Given the description of an element on the screen output the (x, y) to click on. 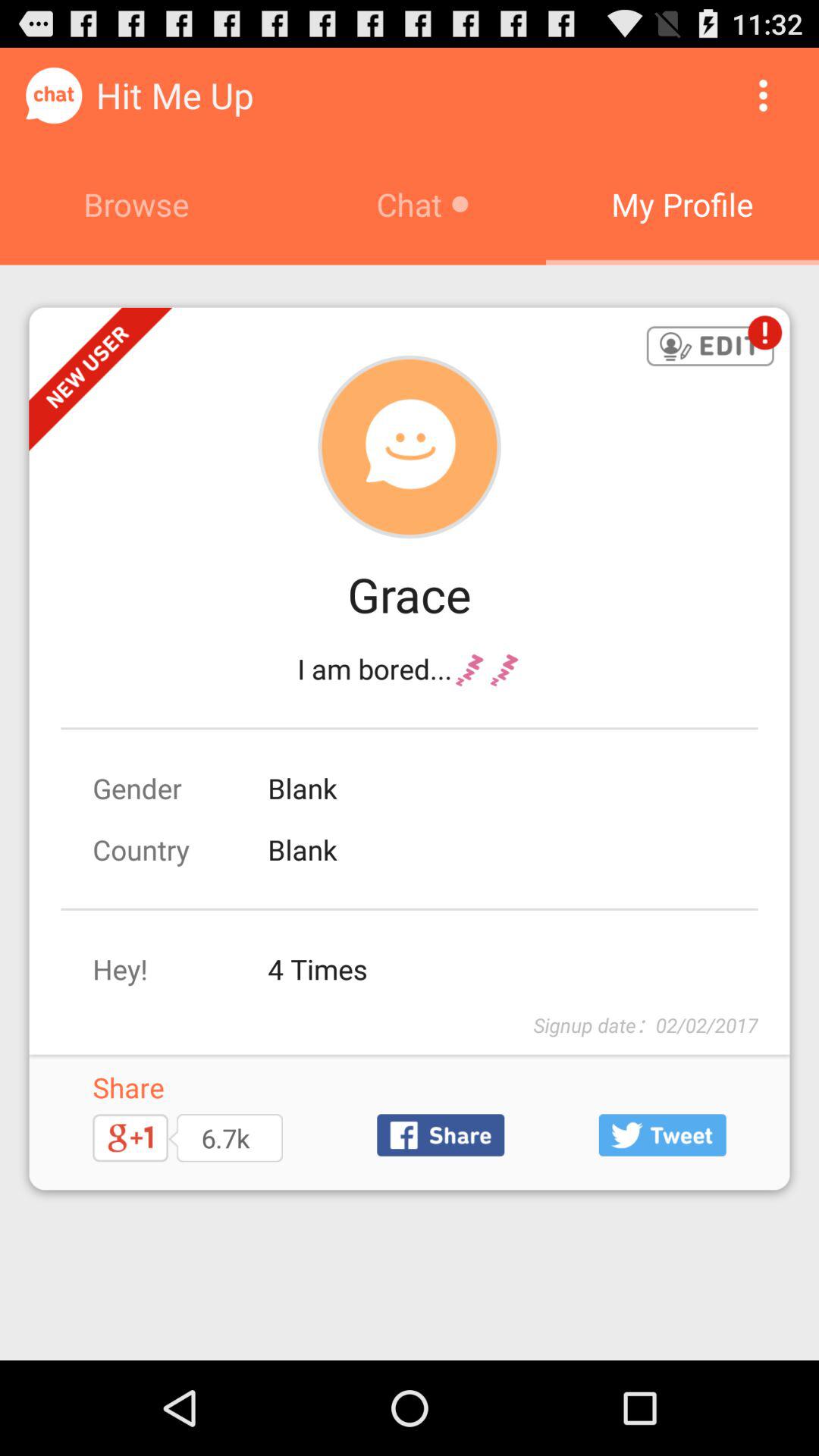
click the facebook share button on the web page (440, 1134)
